Given the description of an element on the screen output the (x, y) to click on. 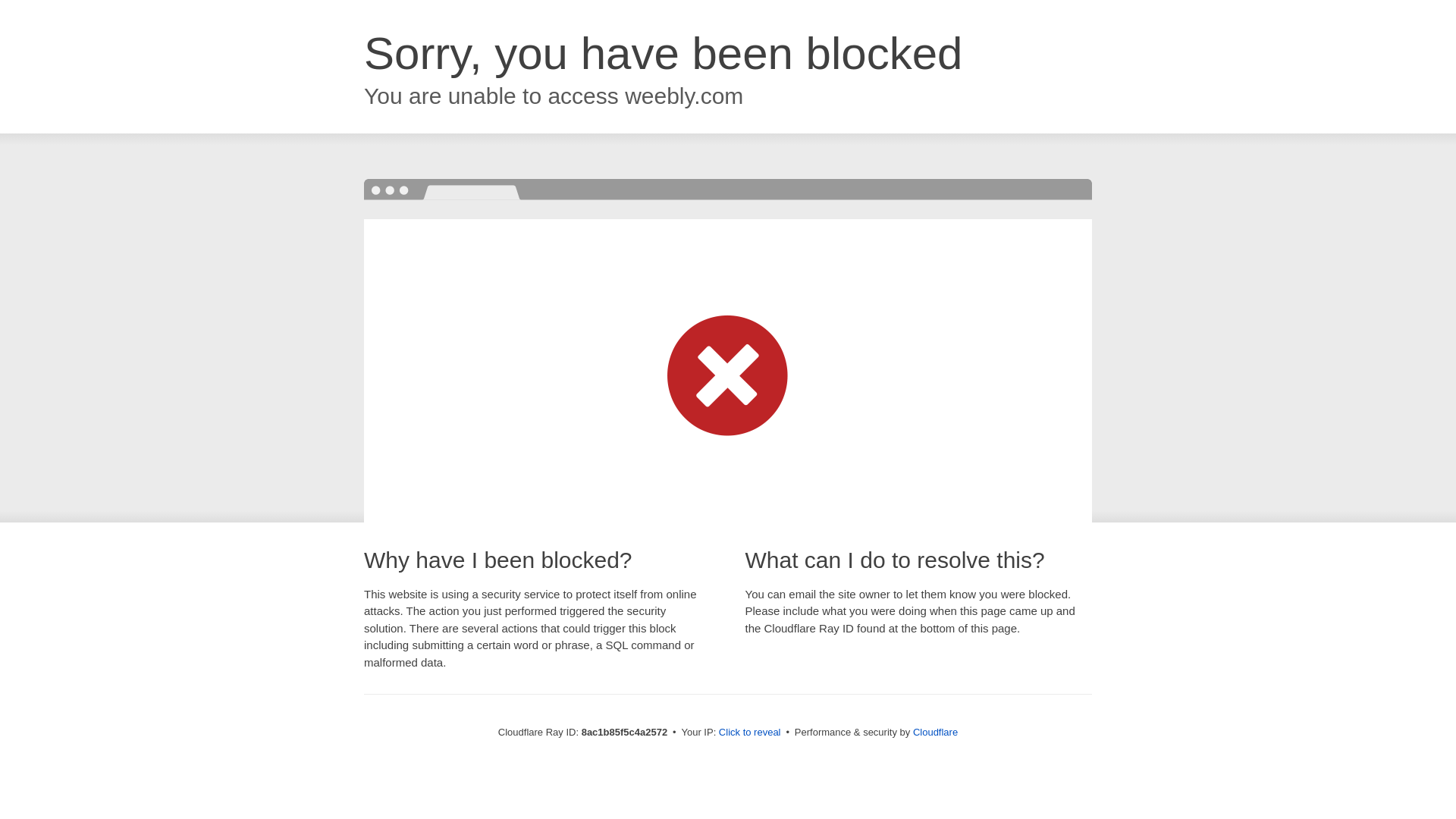
Click to reveal (749, 732)
Cloudflare (935, 731)
